Given the description of an element on the screen output the (x, y) to click on. 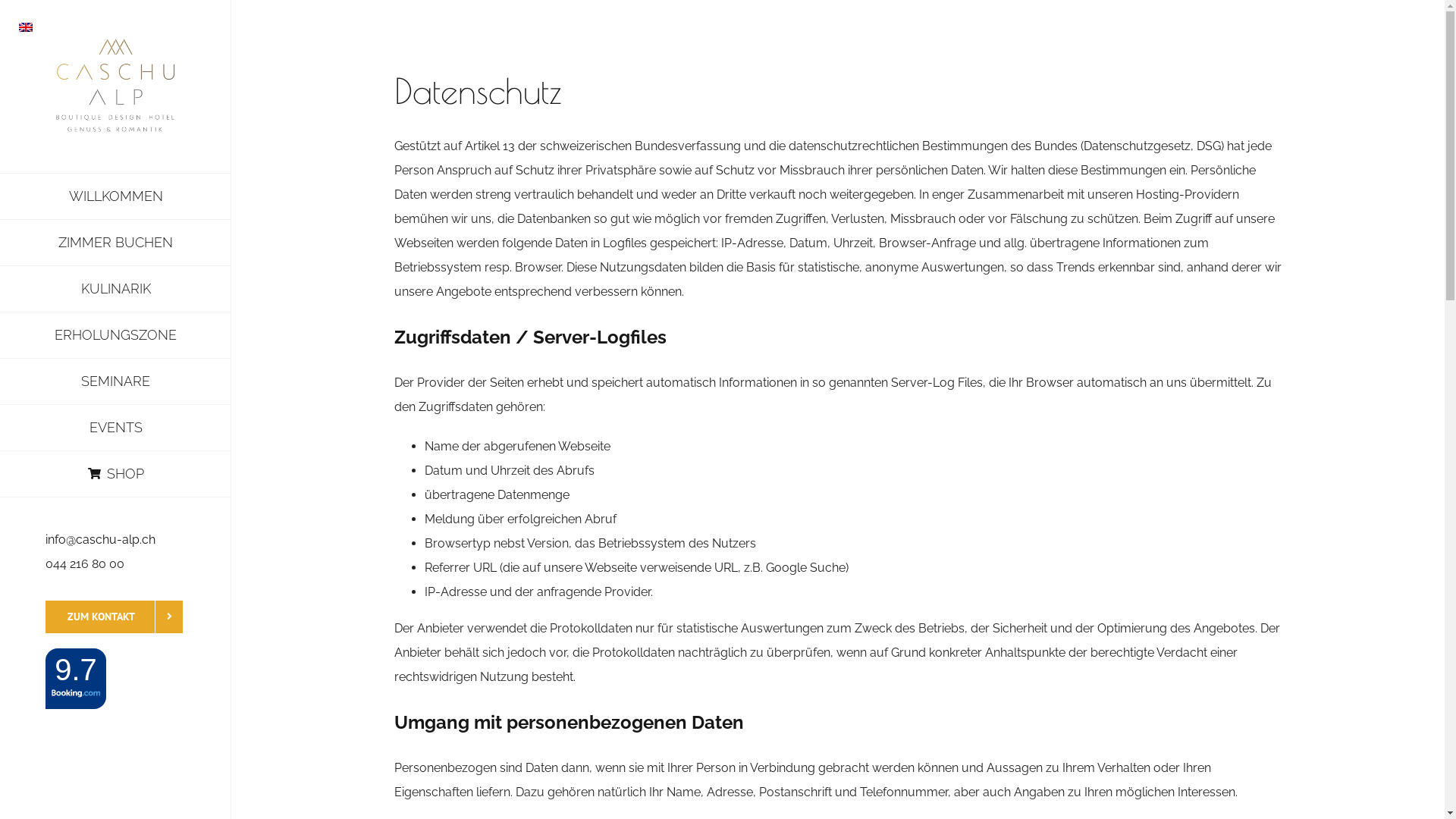
SHOP Element type: text (115, 474)
EVENTS Element type: text (115, 427)
WILLKOMMEN Element type: text (115, 195)
ZUM KONTAKT Element type: text (113, 616)
SEMINARE Element type: text (115, 381)
ERHOLUNGSZONE Element type: text (115, 335)
ZIMMER BUCHEN Element type: text (115, 242)
KULINARIK Element type: text (115, 289)
info@caschu-alp.ch Element type: text (100, 539)
